Given the description of an element on the screen output the (x, y) to click on. 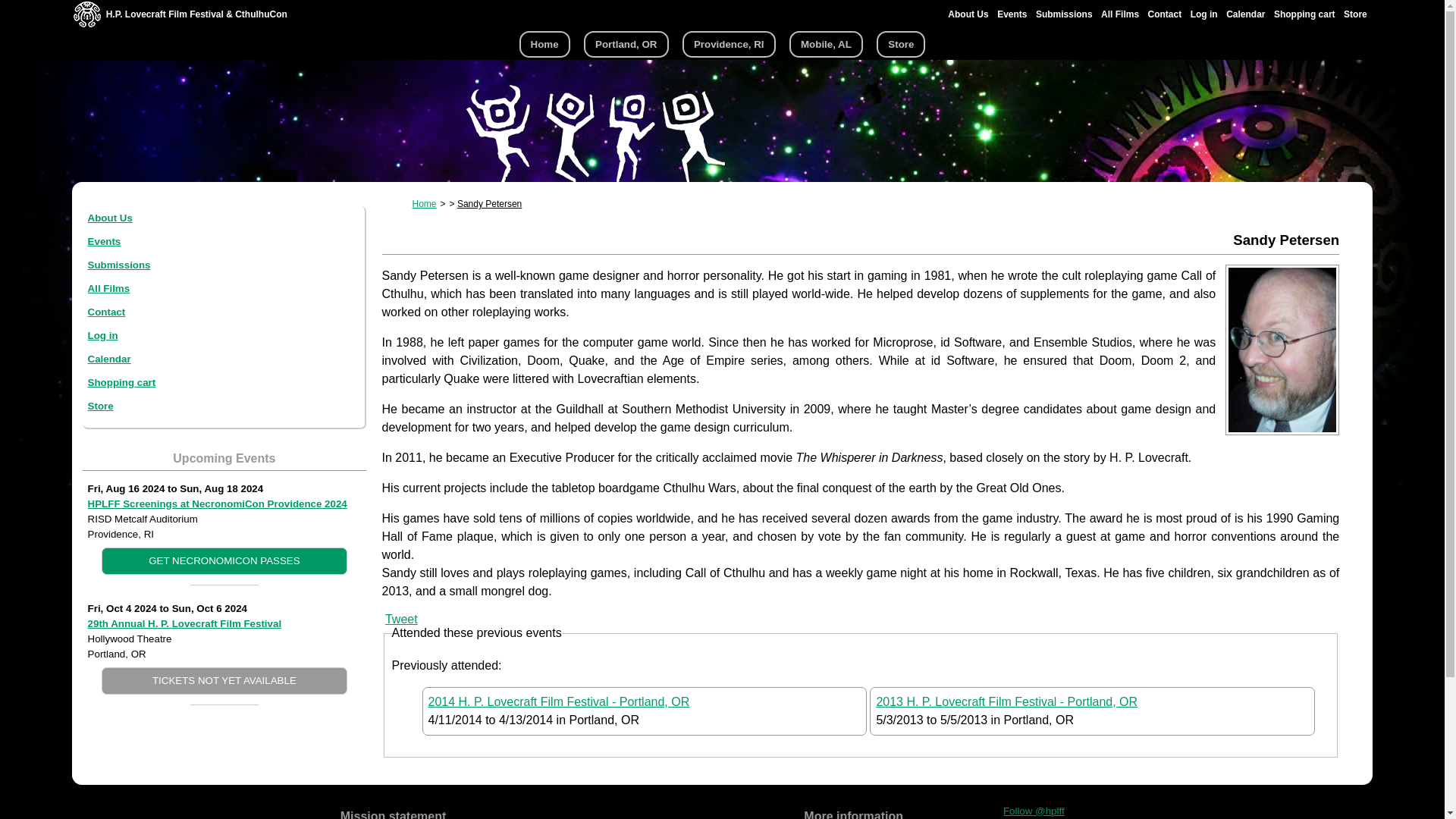
Sandy Petersen (489, 204)
Calendar (1245, 14)
Home (424, 204)
2013 H. P. Lovecraft Film Festival - Portland, OR (1006, 701)
Events (1011, 14)
Tweet (401, 619)
Contact (106, 311)
Submissions (1064, 14)
Calendar (109, 358)
Submissions (119, 265)
